Given the description of an element on the screen output the (x, y) to click on. 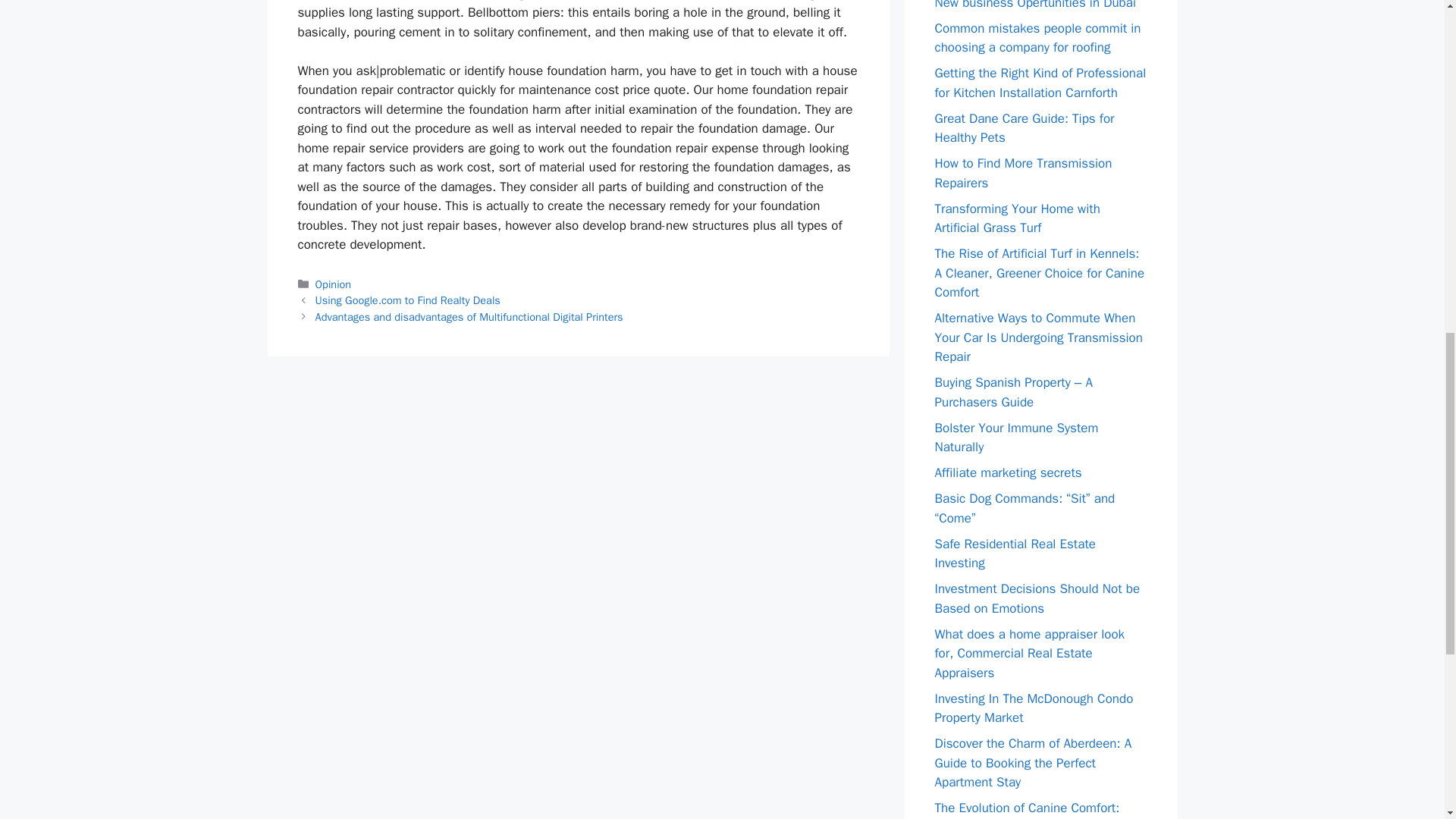
Transforming Your Home with Artificial Grass Turf (1016, 217)
Investing In The McDonough Condo Property Market (1033, 707)
New business Opertunities in Dubai (1034, 4)
Opinion (333, 284)
How to Find More Transmission Repairers (1023, 172)
Bolster Your Immune System Naturally (1015, 437)
Investment Decisions Should Not be Based on Emotions (1037, 598)
Safe Residential Real Estate Investing (1015, 552)
